Given the description of an element on the screen output the (x, y) to click on. 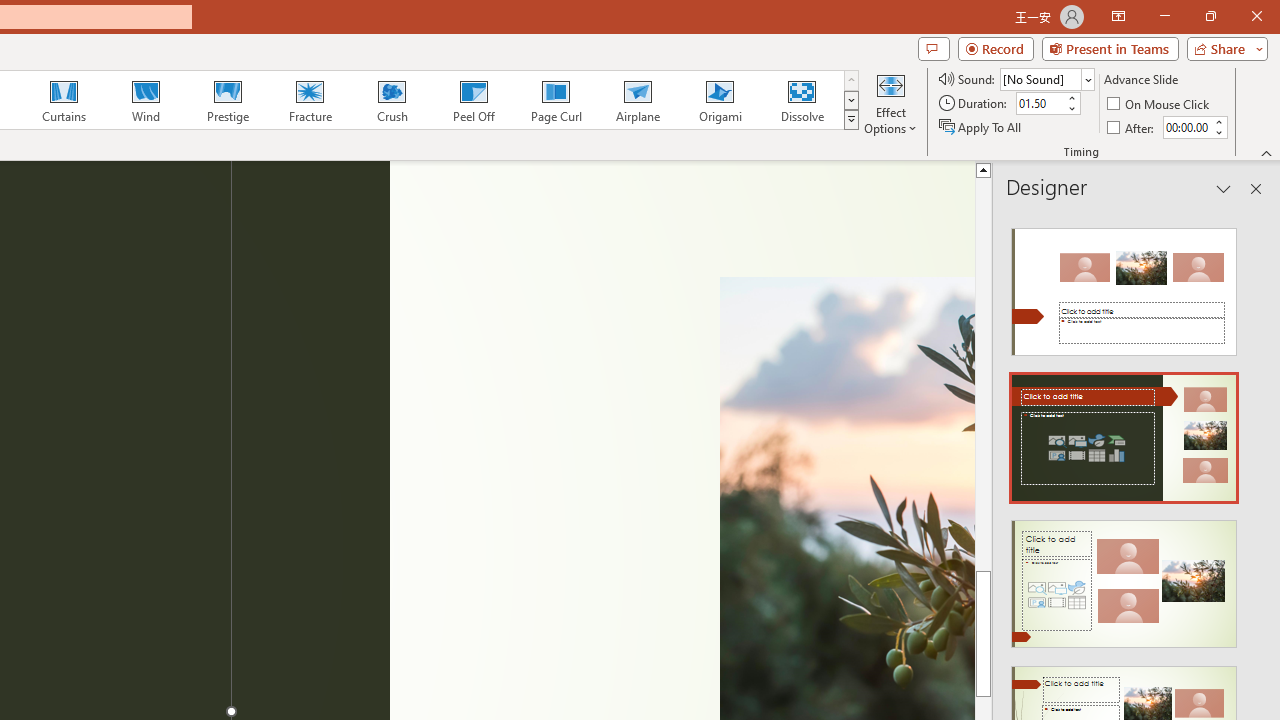
Line up (983, 169)
Curtains (63, 100)
Less (1218, 132)
More (1218, 121)
Effect Options (890, 102)
Row up (850, 79)
Duration (1039, 103)
Page up (983, 408)
Airplane (637, 100)
Wind (145, 100)
Crush (391, 100)
Peel Off (473, 100)
